Given the description of an element on the screen output the (x, y) to click on. 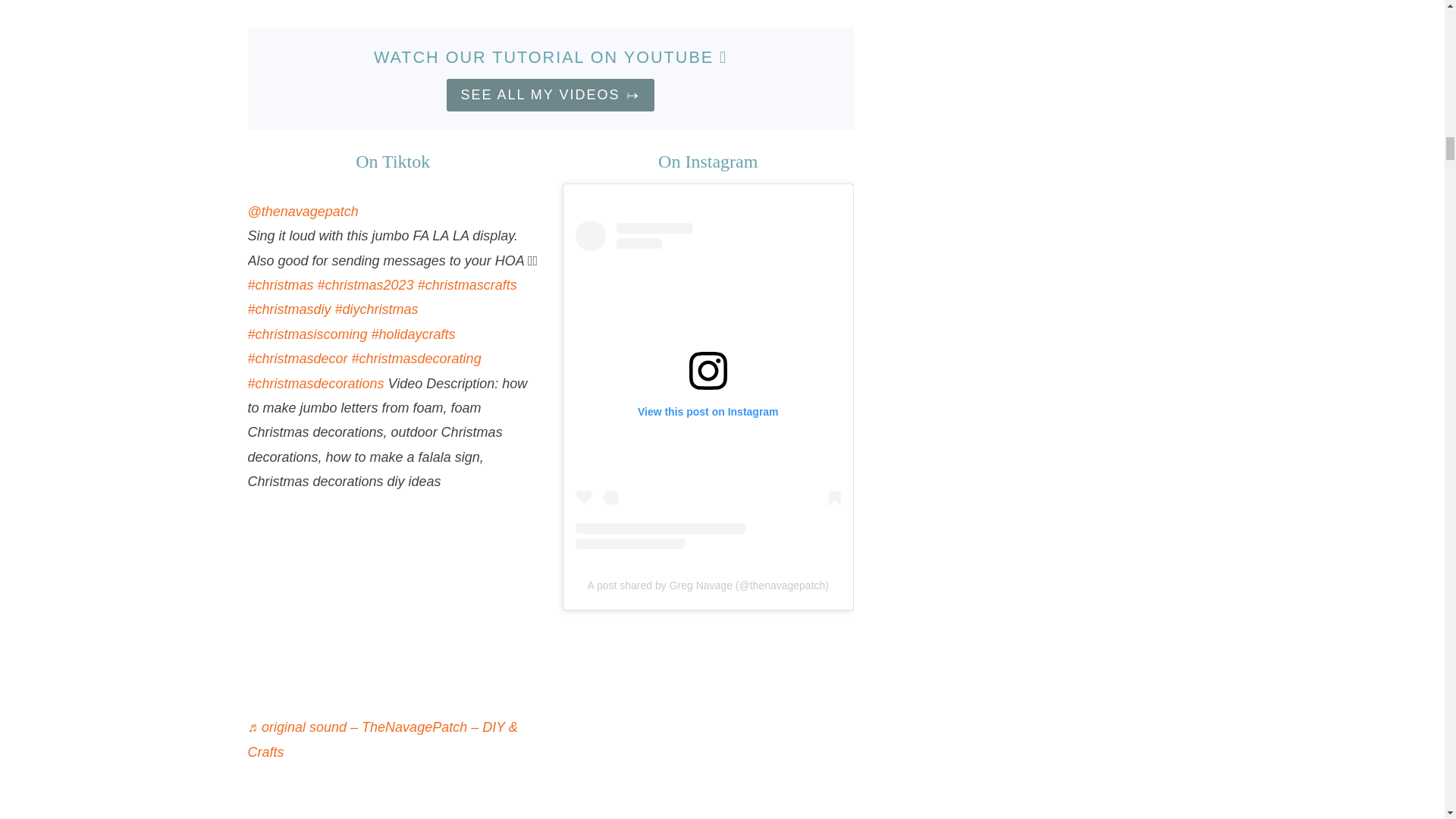
christmas (280, 284)
christmas2023 (365, 284)
diychristmas (376, 309)
christmasdiy (288, 309)
christmascrafts (466, 284)
